Given the description of an element on the screen output the (x, y) to click on. 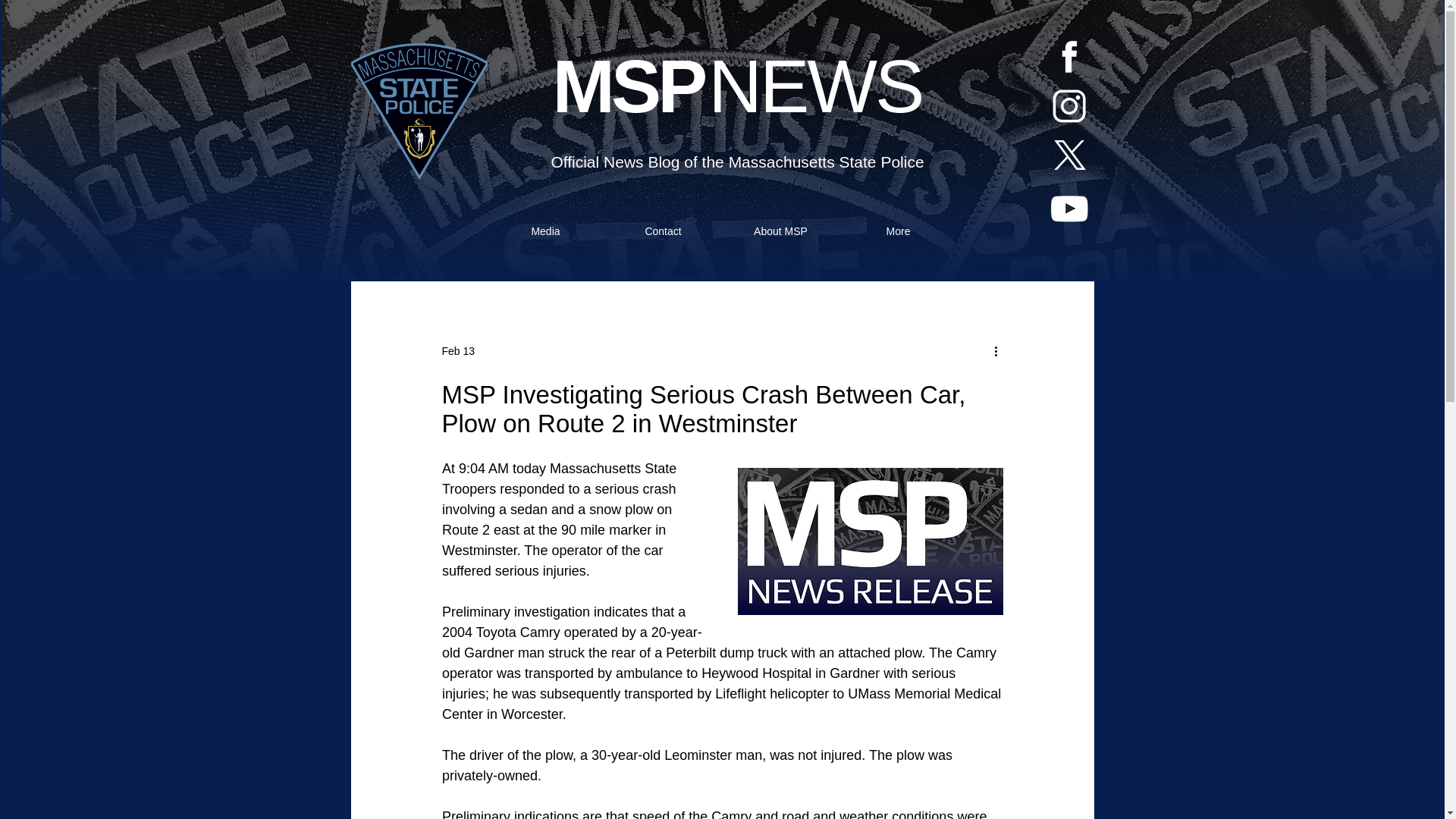
Feb 13 (457, 349)
About MSP (781, 230)
Contact (663, 230)
MSPNEWS (738, 86)
Media (545, 230)
